Given the description of an element on the screen output the (x, y) to click on. 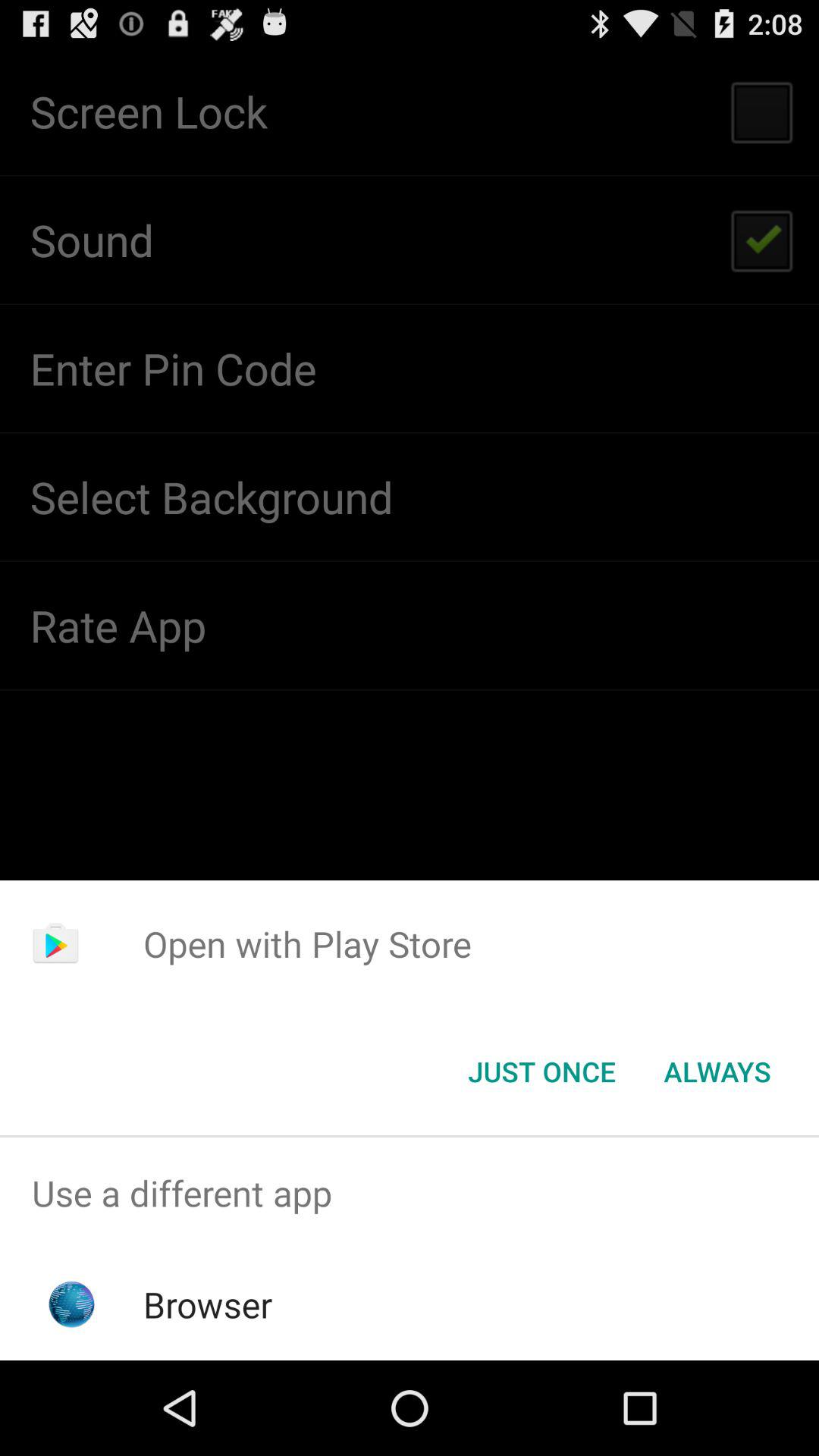
choose item below the open with play (717, 1071)
